Given the description of an element on the screen output the (x, y) to click on. 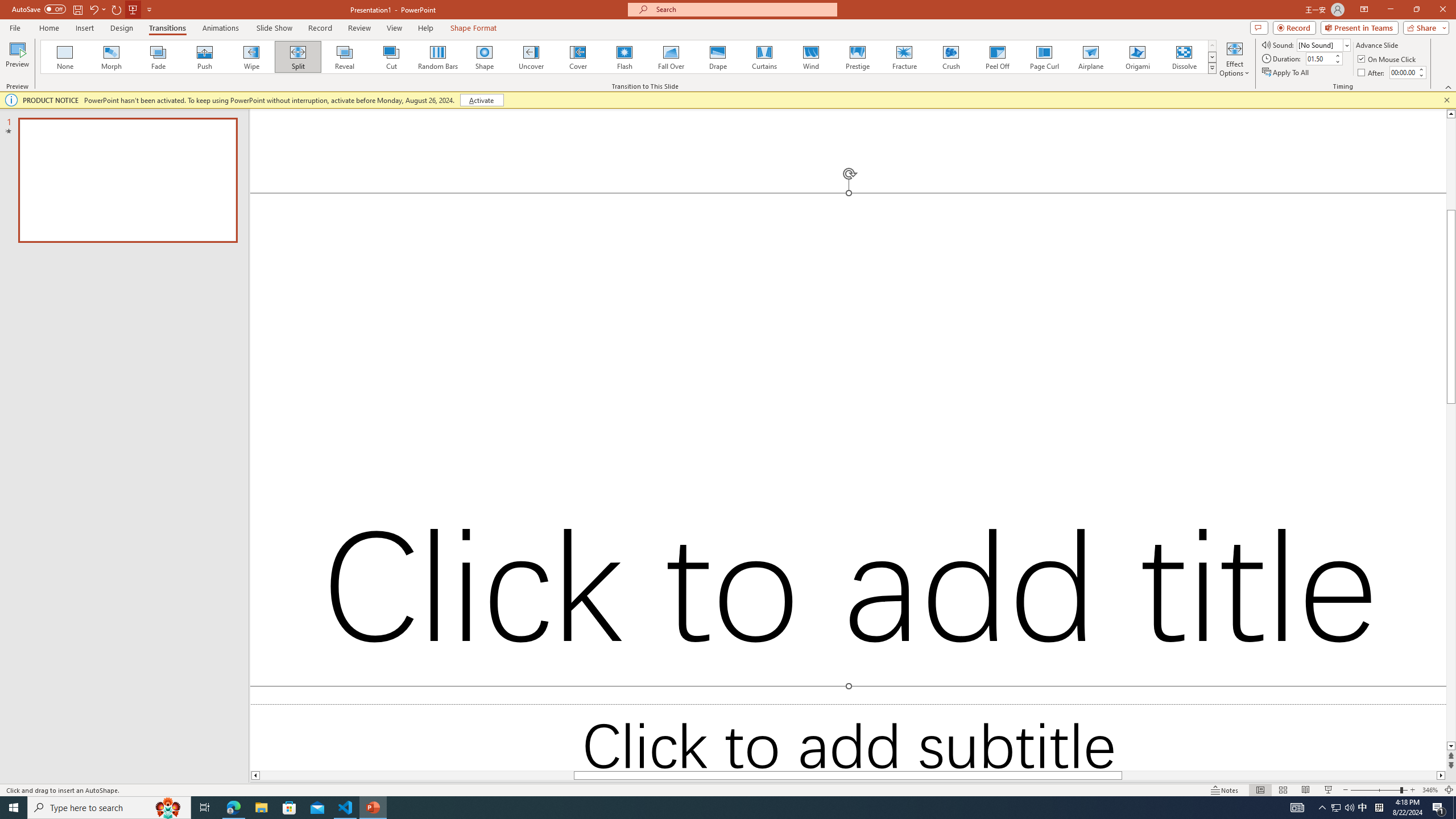
Push (205, 56)
Peel Off (997, 56)
Sound (1324, 44)
Uncover (531, 56)
AutomationID: AnimationTransitionGallery (628, 56)
Activate (481, 100)
Flash (624, 56)
